Given the description of an element on the screen output the (x, y) to click on. 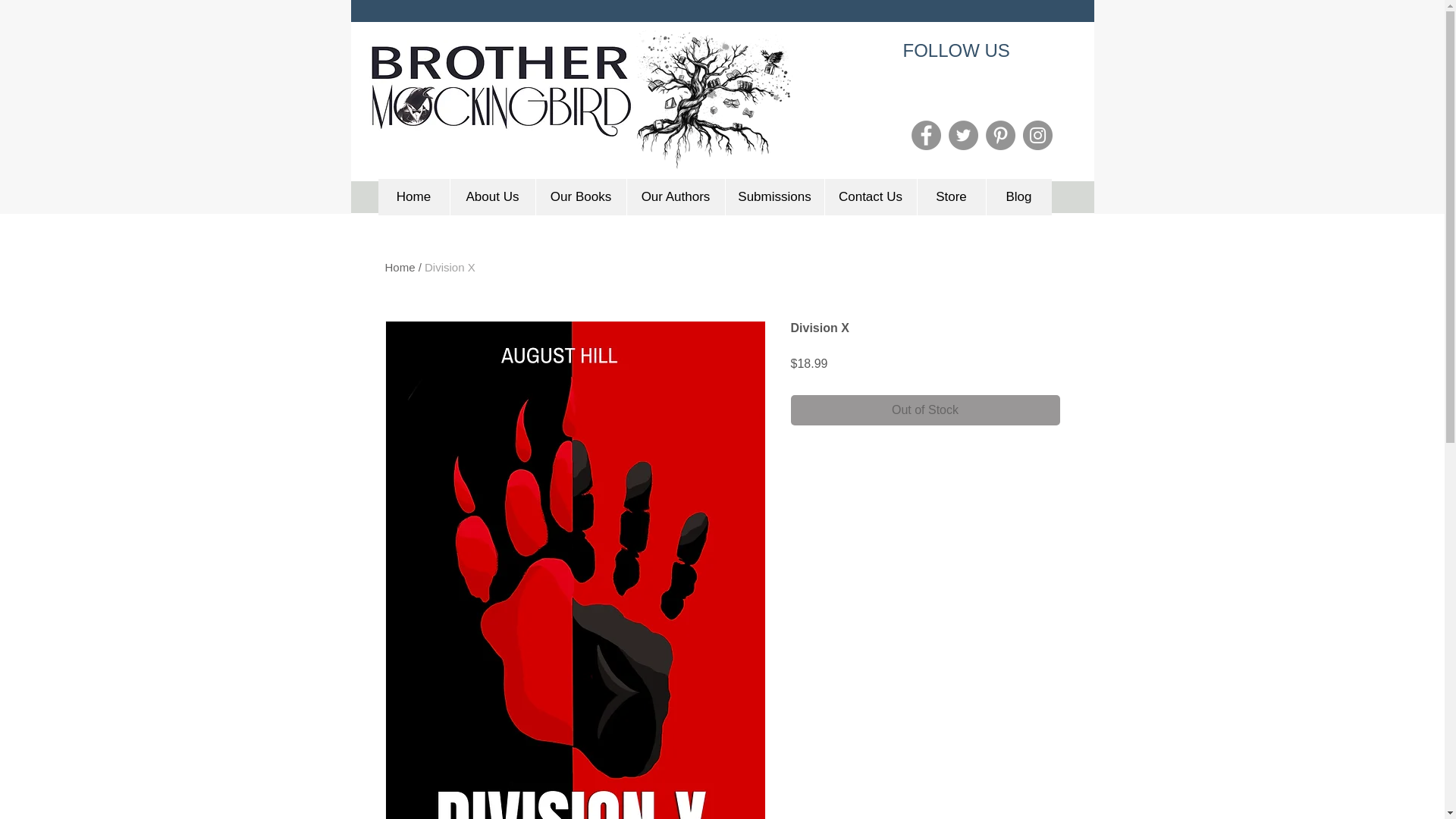
Out of Stock (924, 409)
Store (950, 197)
Home (412, 197)
Blog (1018, 197)
Contact Us (869, 197)
Division X (450, 267)
About Us (491, 197)
Home (399, 267)
Our Authors (675, 197)
Submissions (774, 197)
